Given the description of an element on the screen output the (x, y) to click on. 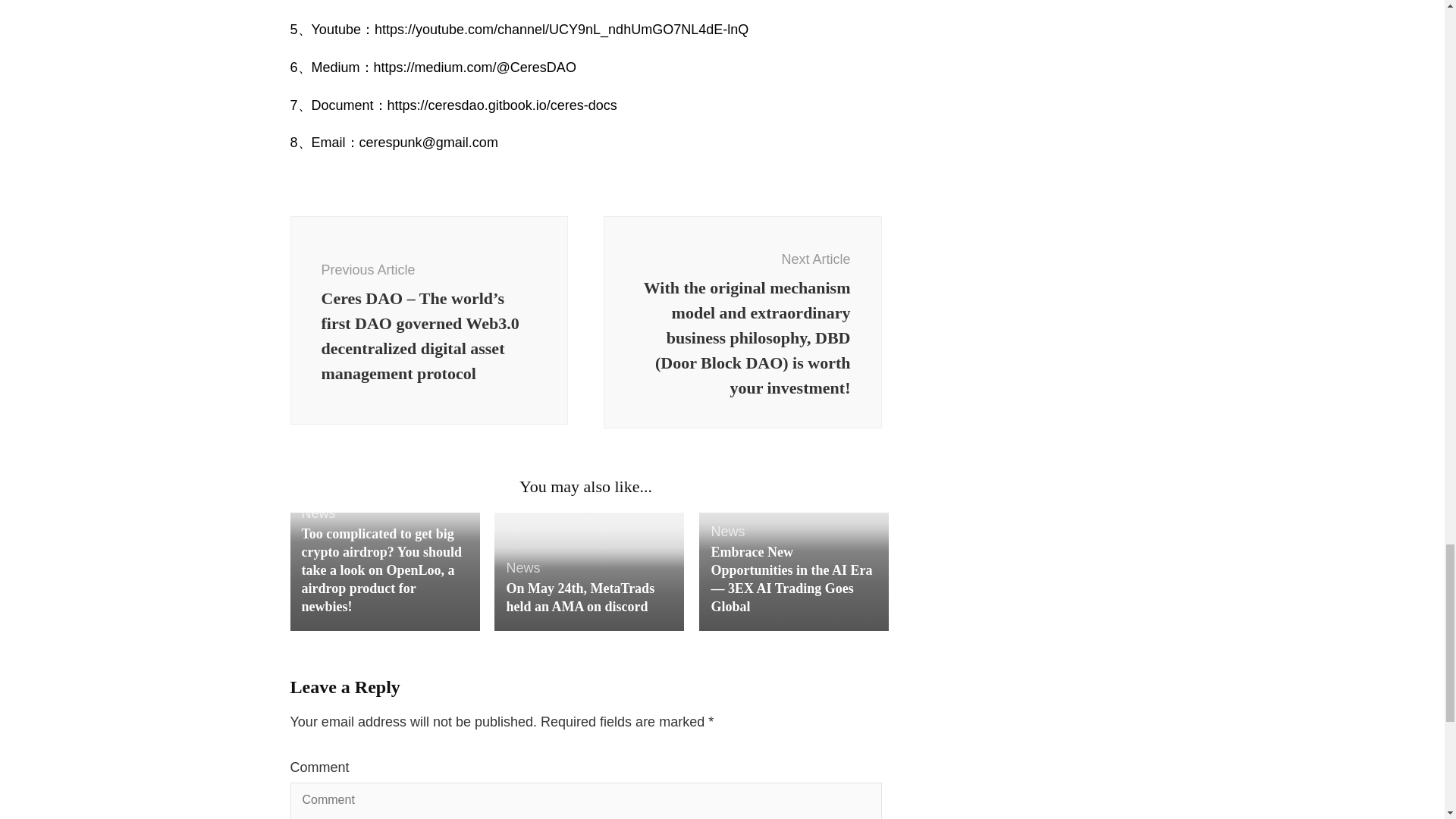
News (727, 531)
On May 24th, MetaTrads held an AMA on discord (579, 597)
News (318, 513)
News (522, 567)
